Given the description of an element on the screen output the (x, y) to click on. 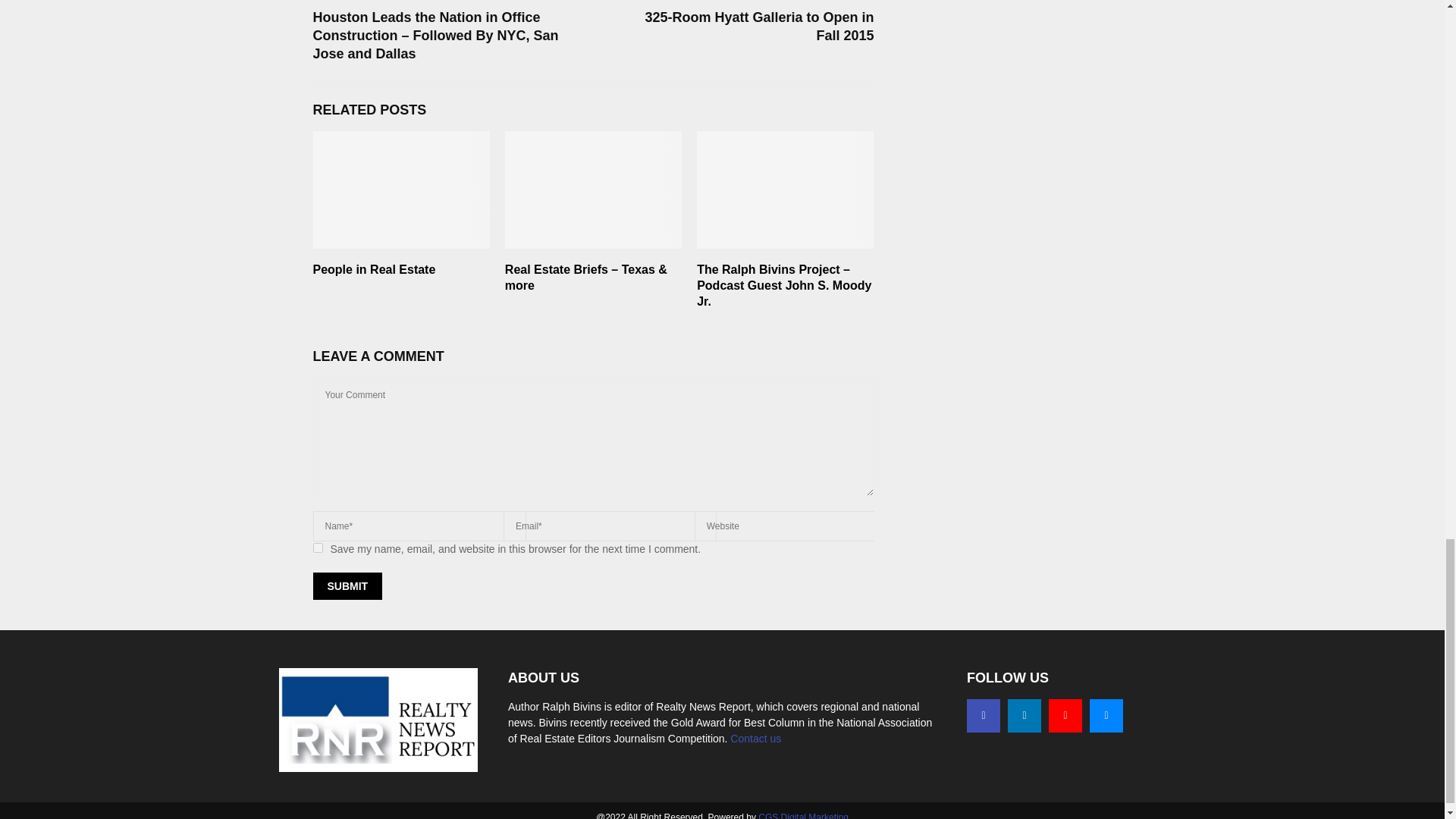
yes (317, 547)
Submit (347, 585)
